Given the description of an element on the screen output the (x, y) to click on. 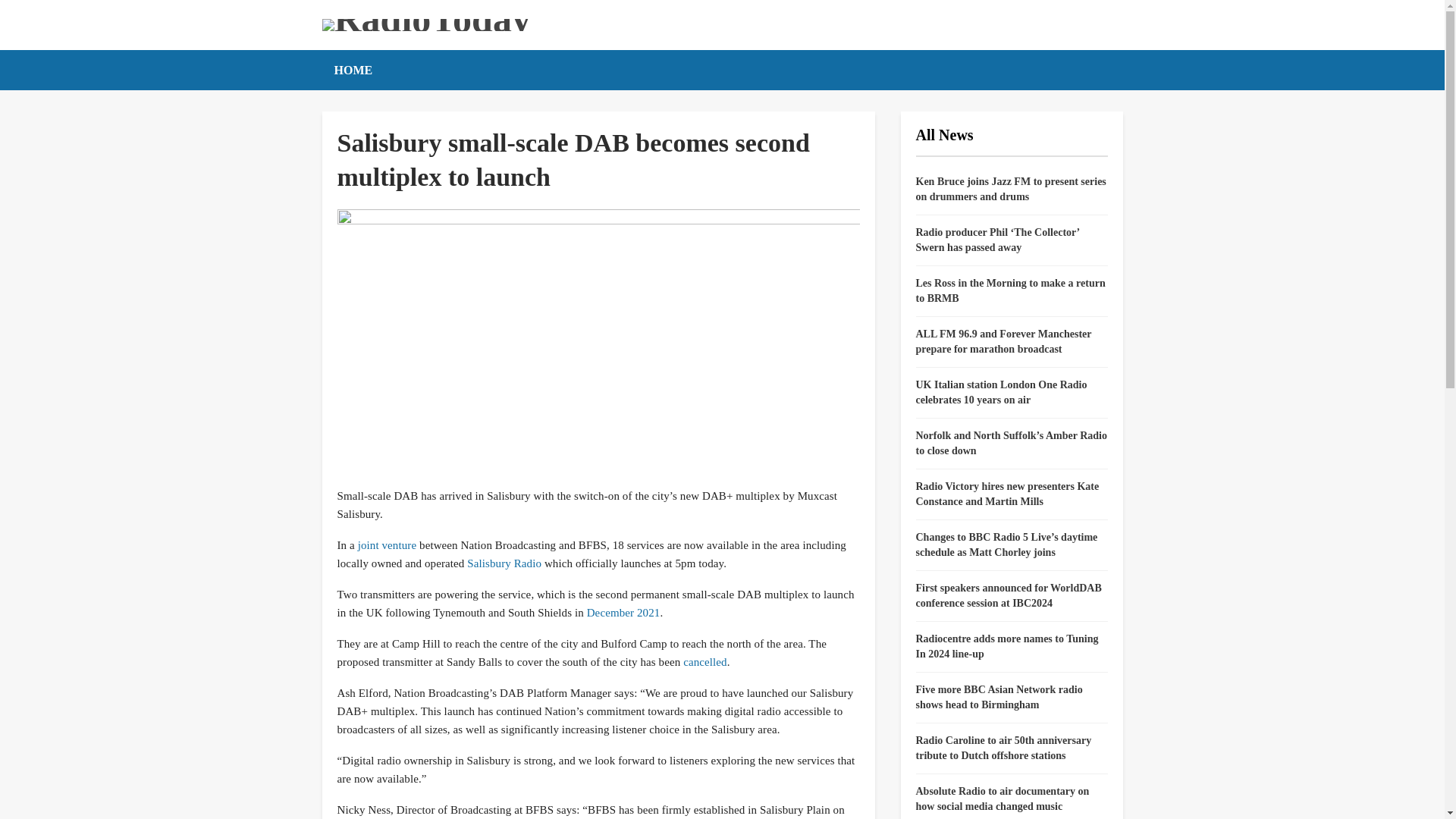
HOME (352, 69)
Salisbury Radio (504, 563)
joint venture (387, 544)
December 2021 (623, 612)
Les Ross in the Morning to make a return to BRMB (1010, 290)
